Given the description of an element on the screen output the (x, y) to click on. 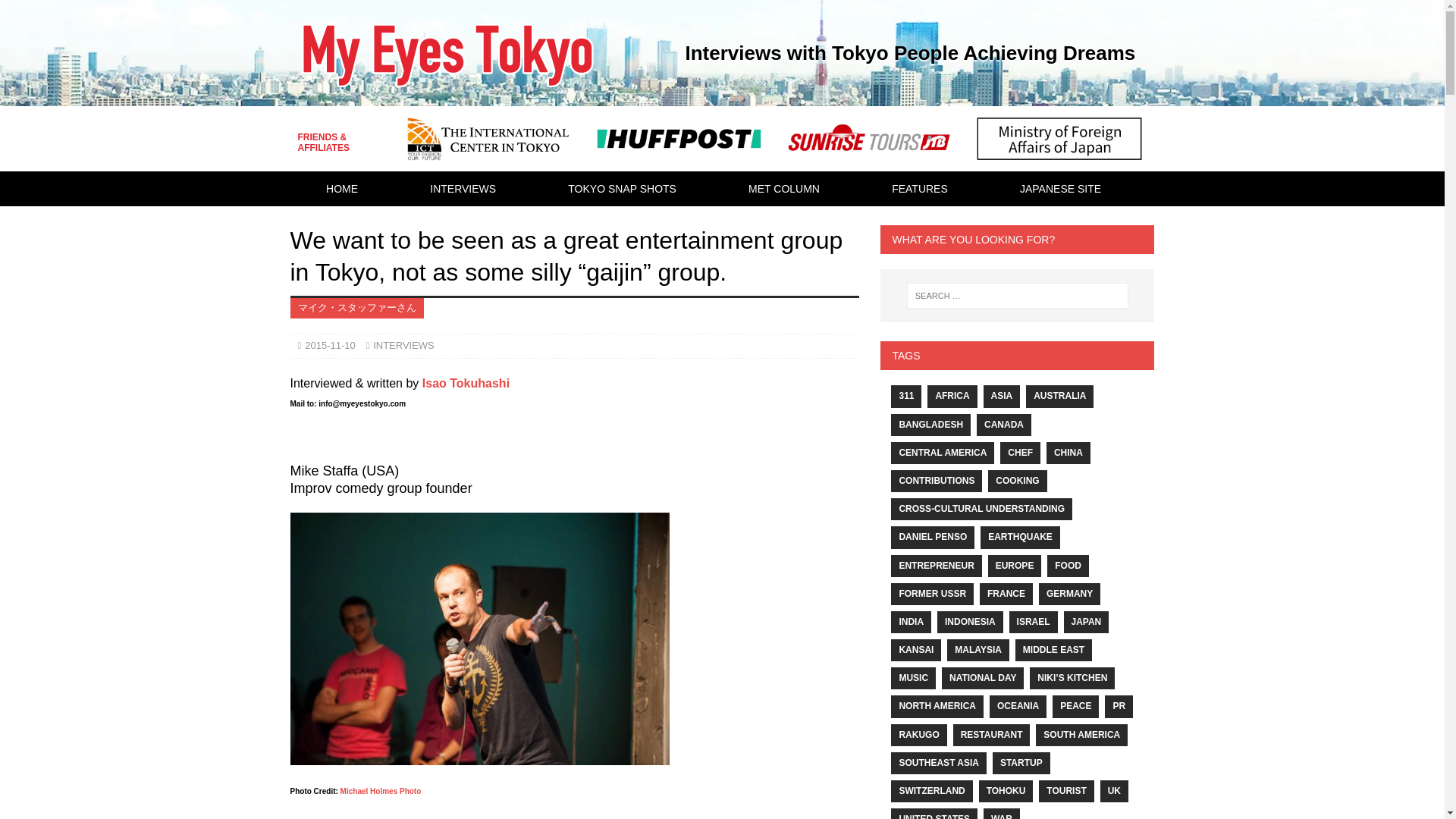
MET COLUMN (784, 188)
HOME (341, 188)
INTERVIEWS (402, 345)
FEATURES (920, 188)
INTERVIEWS (463, 188)
2015-11-10 (329, 345)
JAPANESE SITE (1060, 188)
TOKYO SNAP SHOTS (622, 188)
Isao Tokuhashi (465, 382)
Michael Holmes Photo (381, 791)
